Given the description of an element on the screen output the (x, y) to click on. 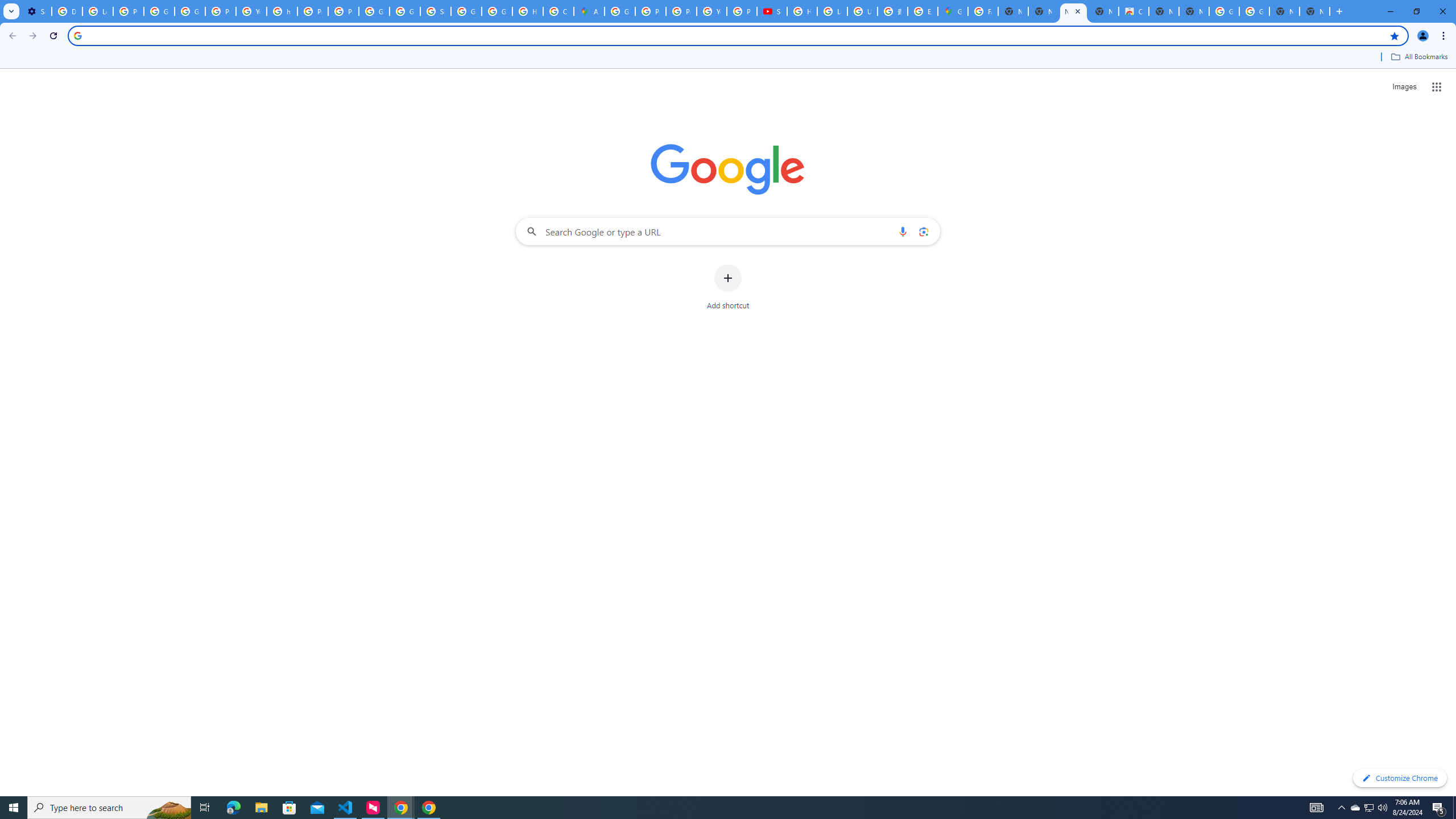
YouTube (711, 11)
